Given the description of an element on the screen output the (x, y) to click on. 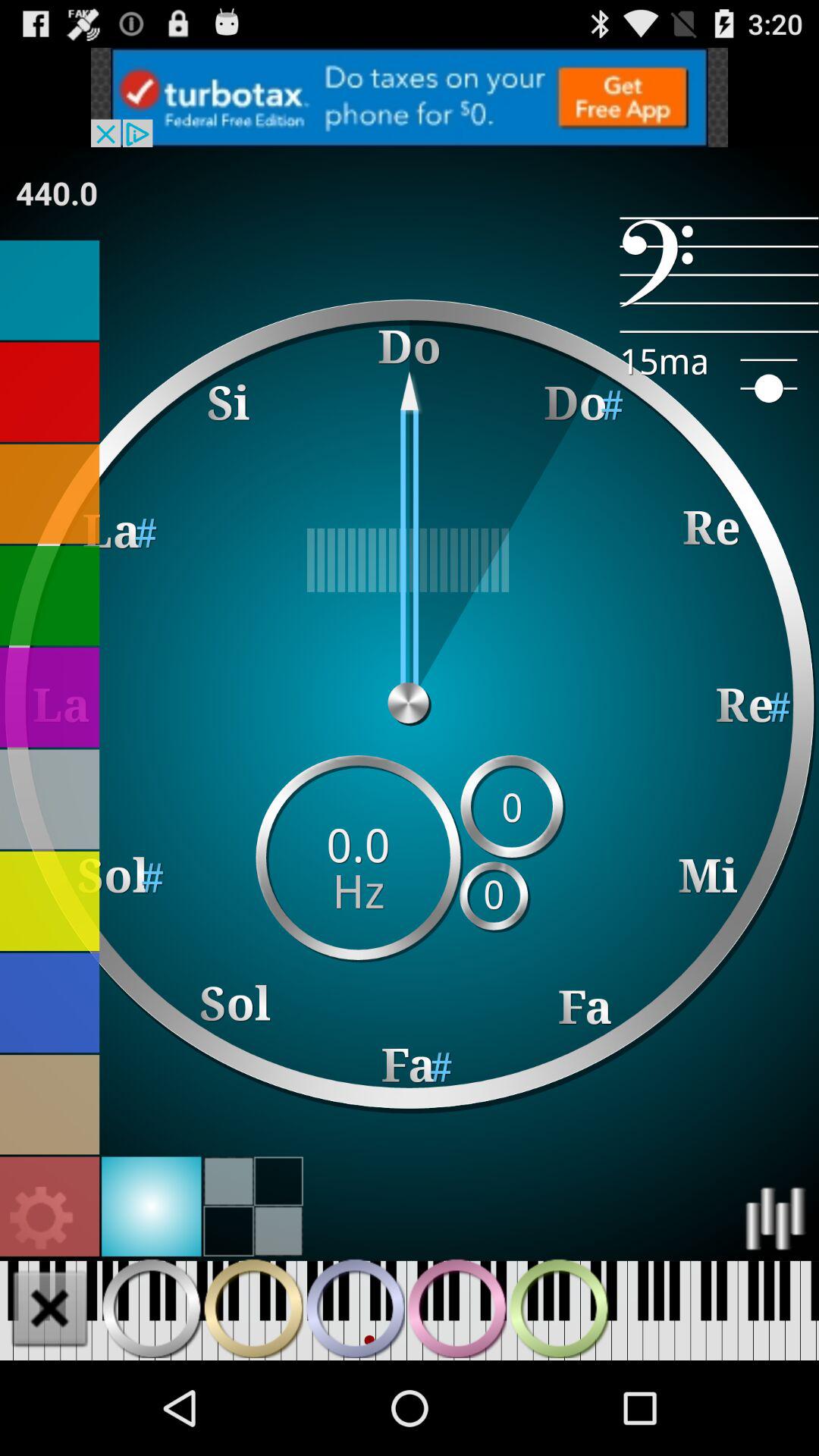
musical note (49, 290)
